Given the description of an element on the screen output the (x, y) to click on. 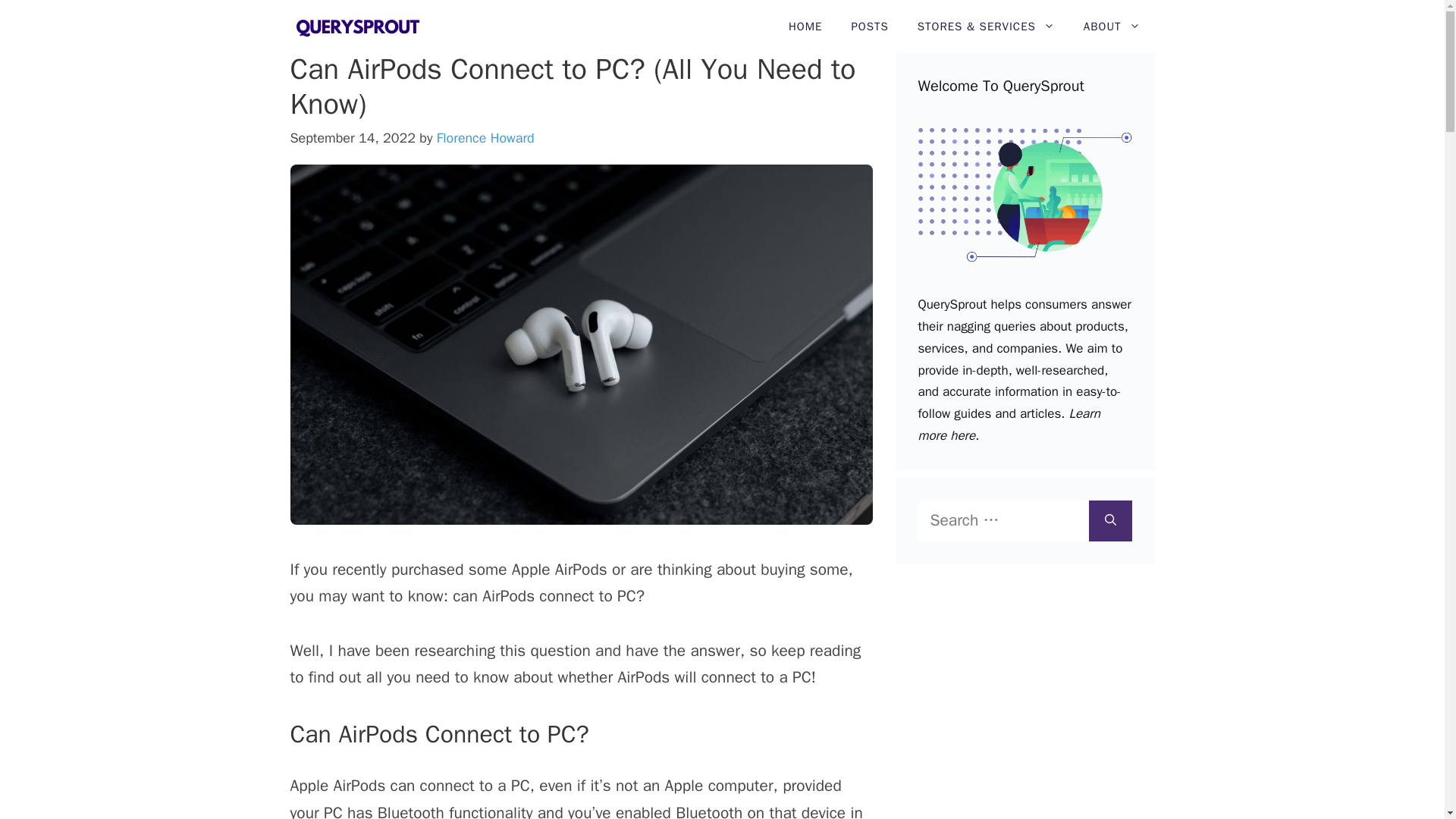
HOME (804, 26)
POSTS (868, 26)
Florence Howard (485, 137)
View all posts by Florence Howard (485, 137)
Search for: (1002, 520)
ABOUT (1111, 26)
Learn more here (1008, 424)
